Given the description of an element on the screen output the (x, y) to click on. 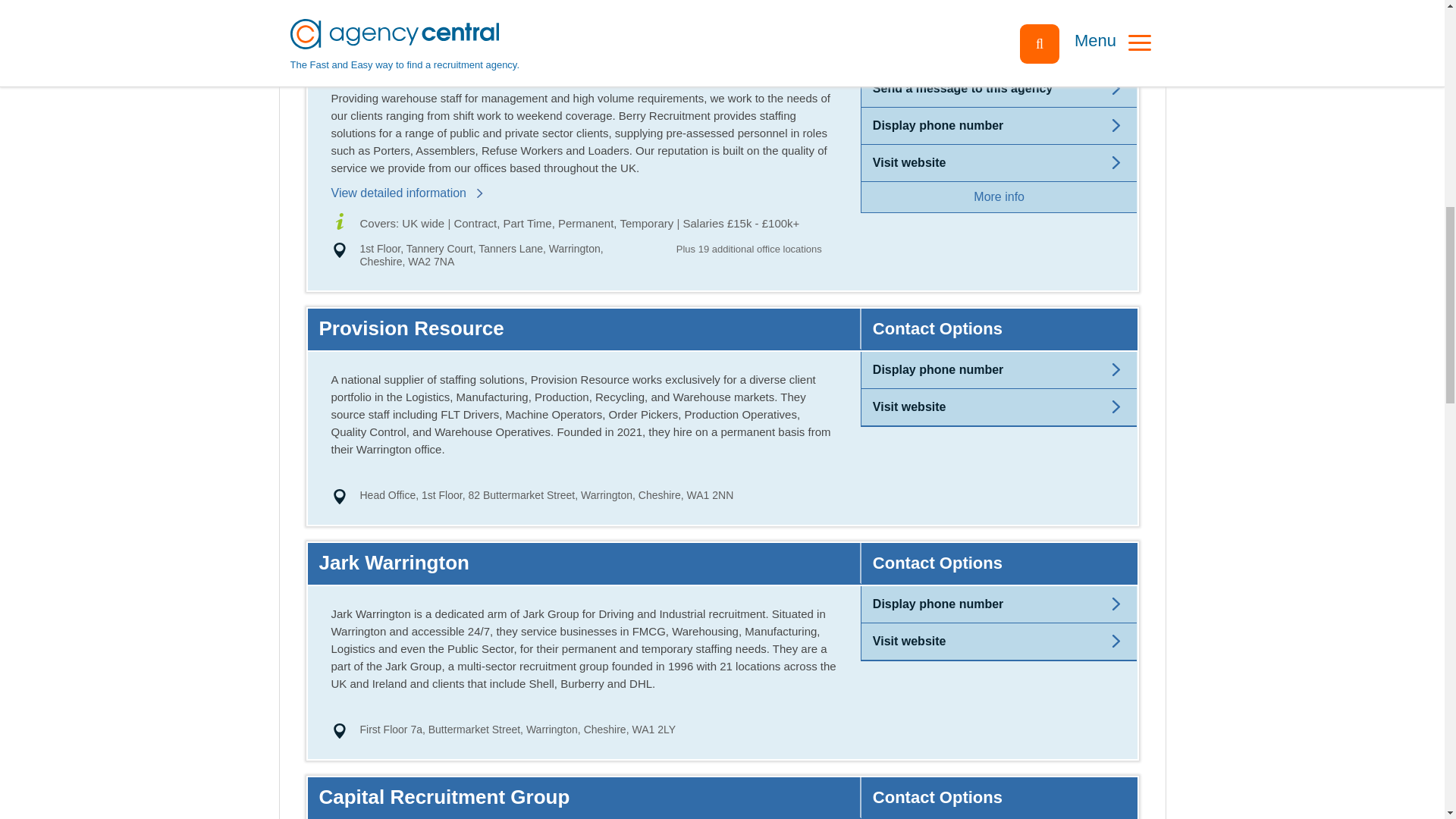
Display phone number (937, 124)
Visit website (909, 162)
Send a message to this agency (962, 88)
Display phone number (937, 369)
Visit website (909, 406)
Display phone number (937, 603)
Visit website (909, 640)
